Given the description of an element on the screen output the (x, y) to click on. 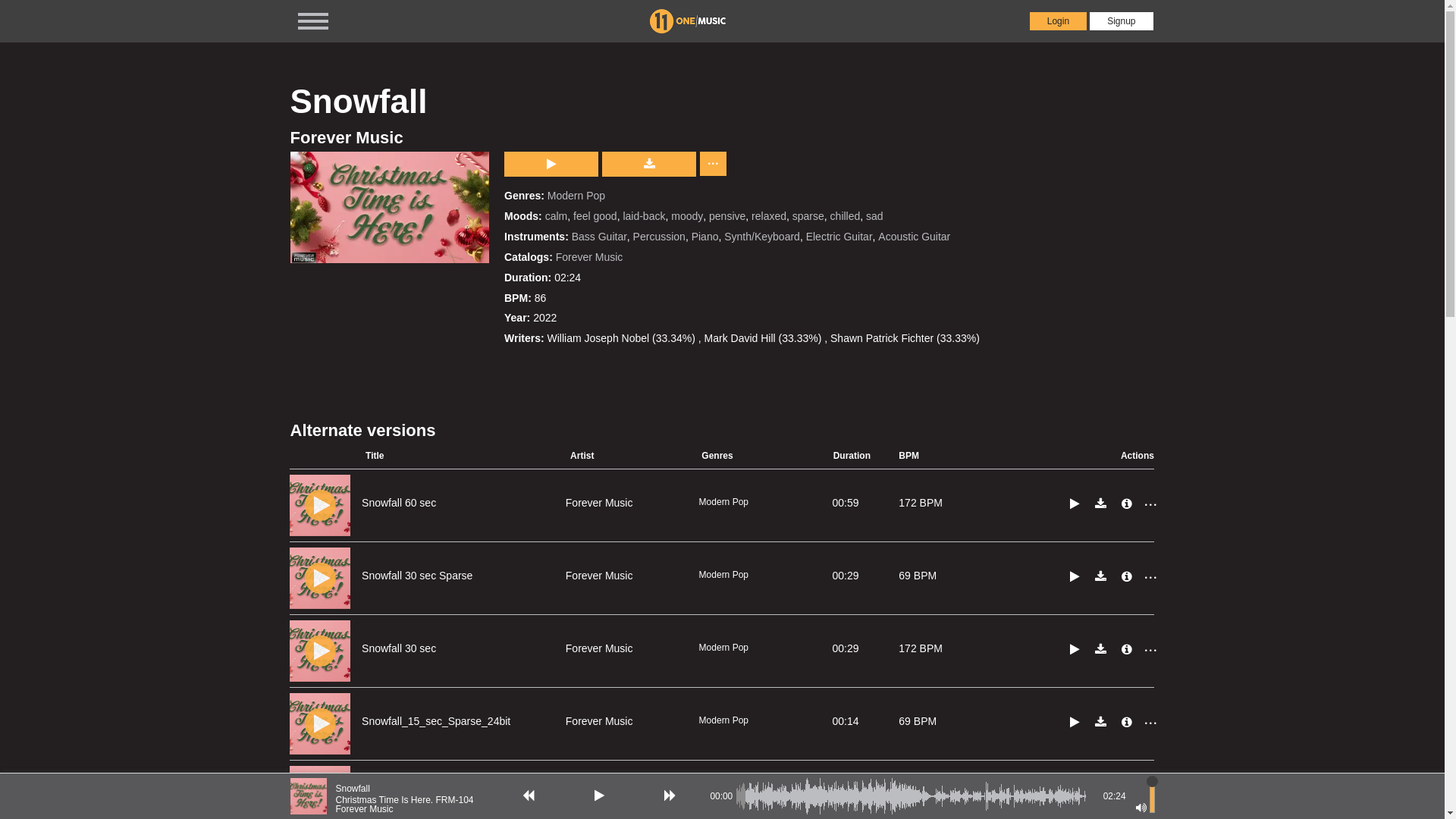
laid-back Element type: text (643, 216)
Modern Pop Element type: text (576, 195)
Download Snowfall Element type: hover (649, 163)
11 One/Music Element type: hover (687, 21)
Play Snowfall 30 Sec Element type: hover (1074, 649)
Snowfall 30 sec Sparse Element type: text (416, 574)
Info Snowfall 15 Sec Element type: hover (1126, 794)
Acoustic Guitar Element type: text (914, 236)
Signup Element type: text (1120, 21)
Forever Music Element type: text (589, 257)
Modern Pop Element type: text (723, 792)
Snowfall 30 sec Element type: text (398, 647)
Forever Music Element type: text (599, 721)
Play Song Element type: hover (319, 796)
Info Snowfall 30 Sec Sparse Element type: hover (1126, 576)
Play Song Element type: hover (319, 723)
Forever Music Element type: text (599, 793)
Play Song Element type: hover (319, 504)
chilled Element type: text (845, 216)
Play Snowfall_15_sec_Sparse_24bit Element type: hover (1074, 721)
Forever Music Element type: text (411, 808)
relaxed Element type: text (768, 216)
moody Element type: text (686, 216)
sad Element type: text (874, 216)
Synth/Keyboard Element type: text (762, 236)
pensive Element type: text (727, 216)
Christmas Time Is Here. FRM-104 Element type: text (404, 799)
Forever Music Element type: text (345, 137)
Download Snowfall 60 Sec Element type: hover (1100, 503)
calm Element type: text (556, 216)
Modern Pop Element type: text (723, 574)
Login Element type: text (1057, 21)
Snowfall 60 sec Element type: text (398, 501)
Forever Music Element type: text (599, 502)
Play Snowfall Element type: hover (551, 163)
Download Snowfall_15_sec_Sparse_24bit Element type: hover (1100, 721)
Play Snowfall 15 Sec Element type: hover (1074, 794)
Snowfall Element type: text (411, 788)
Info Snowfall 60 Sec Element type: hover (1126, 503)
Percussion Element type: text (659, 236)
Play Song Element type: hover (319, 577)
sparse Element type: text (808, 216)
Download Snowfall 30 Sec Sparse Element type: hover (1100, 576)
Download Snowfall 30 Sec Element type: hover (1100, 649)
Electric Guitar Element type: text (839, 236)
Snowfall 15 sec Element type: text (398, 793)
Snowfall_15_sec_Sparse_24bit Element type: text (435, 720)
Bass Guitar Element type: text (599, 236)
Forever Music Element type: text (599, 648)
Modern Pop Element type: text (723, 720)
Snowfall Element type: hover (307, 796)
Play Song Element type: hover (319, 650)
Play Snowfall 60 Sec Element type: hover (1074, 503)
Download Snowfall 15 Sec Element type: hover (1100, 794)
Modern Pop Element type: text (723, 647)
feel good Element type: text (595, 216)
Info Snowfall 30 Sec Element type: hover (1126, 649)
Modern Pop Element type: text (723, 501)
Forever Music Element type: text (599, 575)
Play Snowfall 30 Sec Sparse Element type: hover (1074, 576)
Info Snowfall_15_sec_Sparse_24bit Element type: hover (1126, 721)
Piano Element type: text (704, 236)
